Given the description of an element on the screen output the (x, y) to click on. 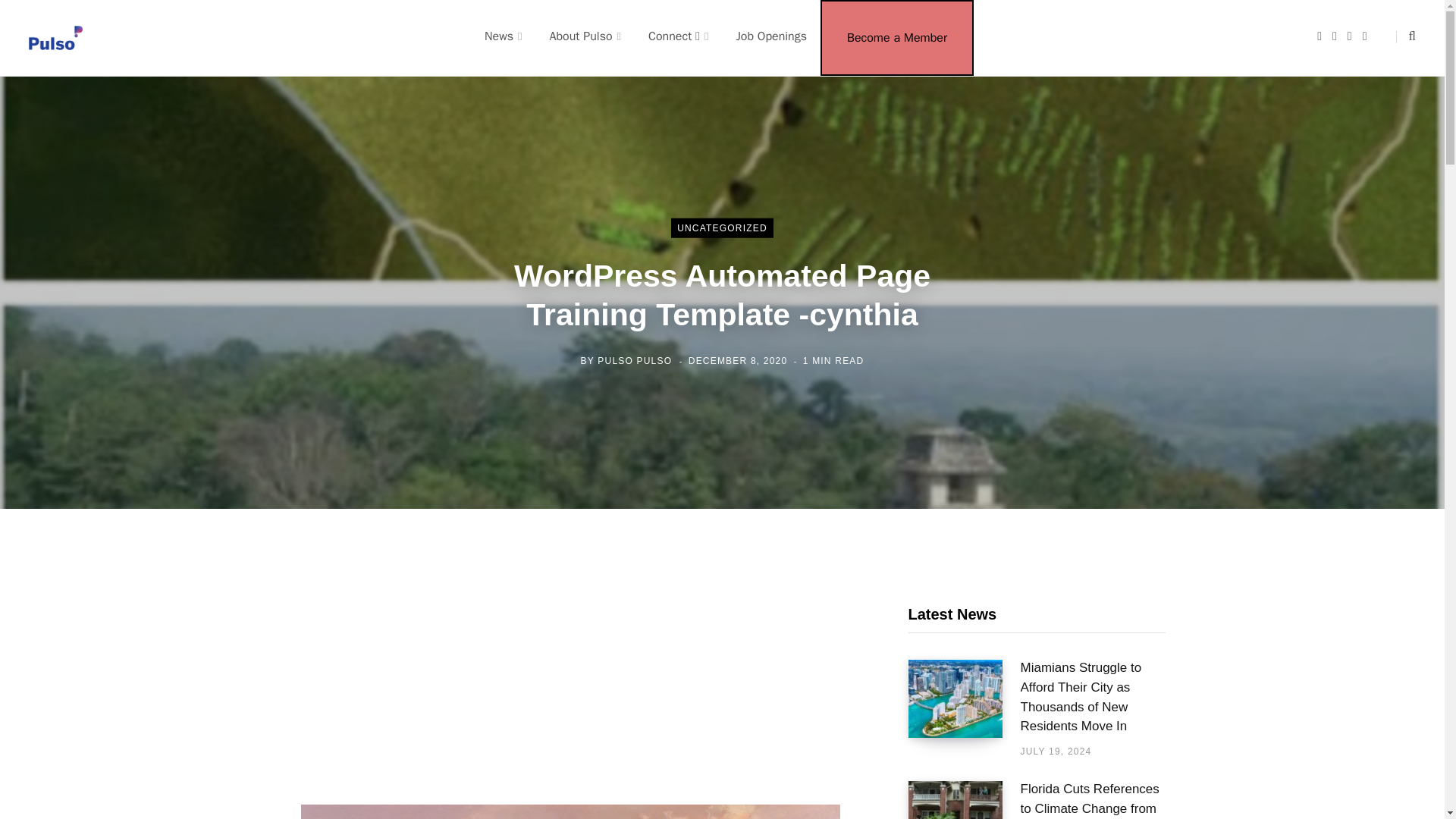
PULSO PULSO (633, 359)
Become a Member (896, 37)
Job Openings (771, 36)
JULY 19, 2024 (1056, 751)
UNCATEGORIZED (722, 228)
About Pulso (584, 36)
Posts by pulso pulso (633, 359)
News (502, 36)
